Given the description of an element on the screen output the (x, y) to click on. 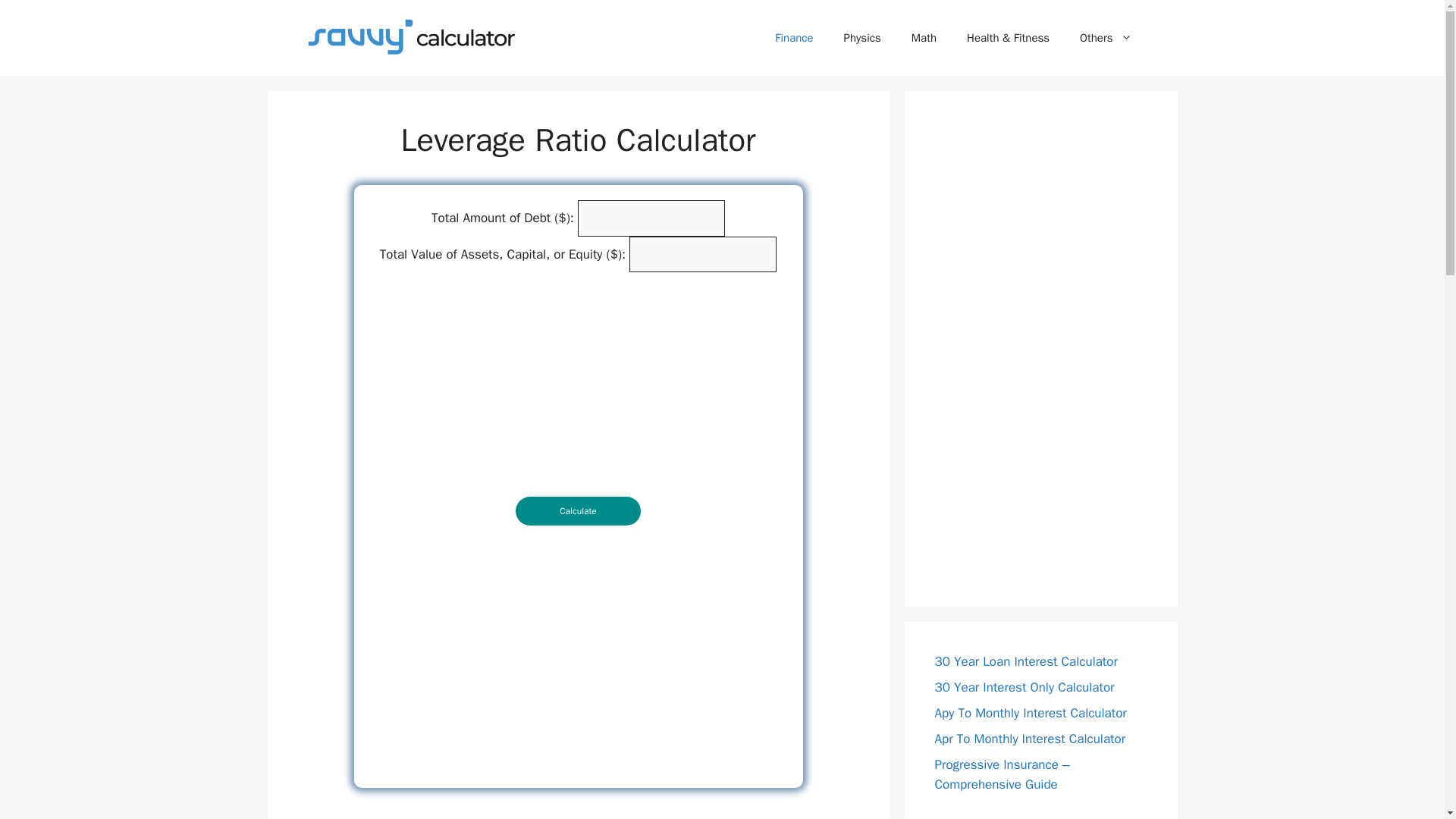
30 Year Loan Interest Calculator (1025, 661)
Math (924, 37)
Physics (862, 37)
Apr To Monthly Interest Calculator (1029, 738)
30 Year Interest Only Calculator (1023, 687)
Finance (794, 37)
Calculate (578, 510)
Others (1105, 37)
Apy To Monthly Interest Calculator (1029, 713)
